Given the description of an element on the screen output the (x, y) to click on. 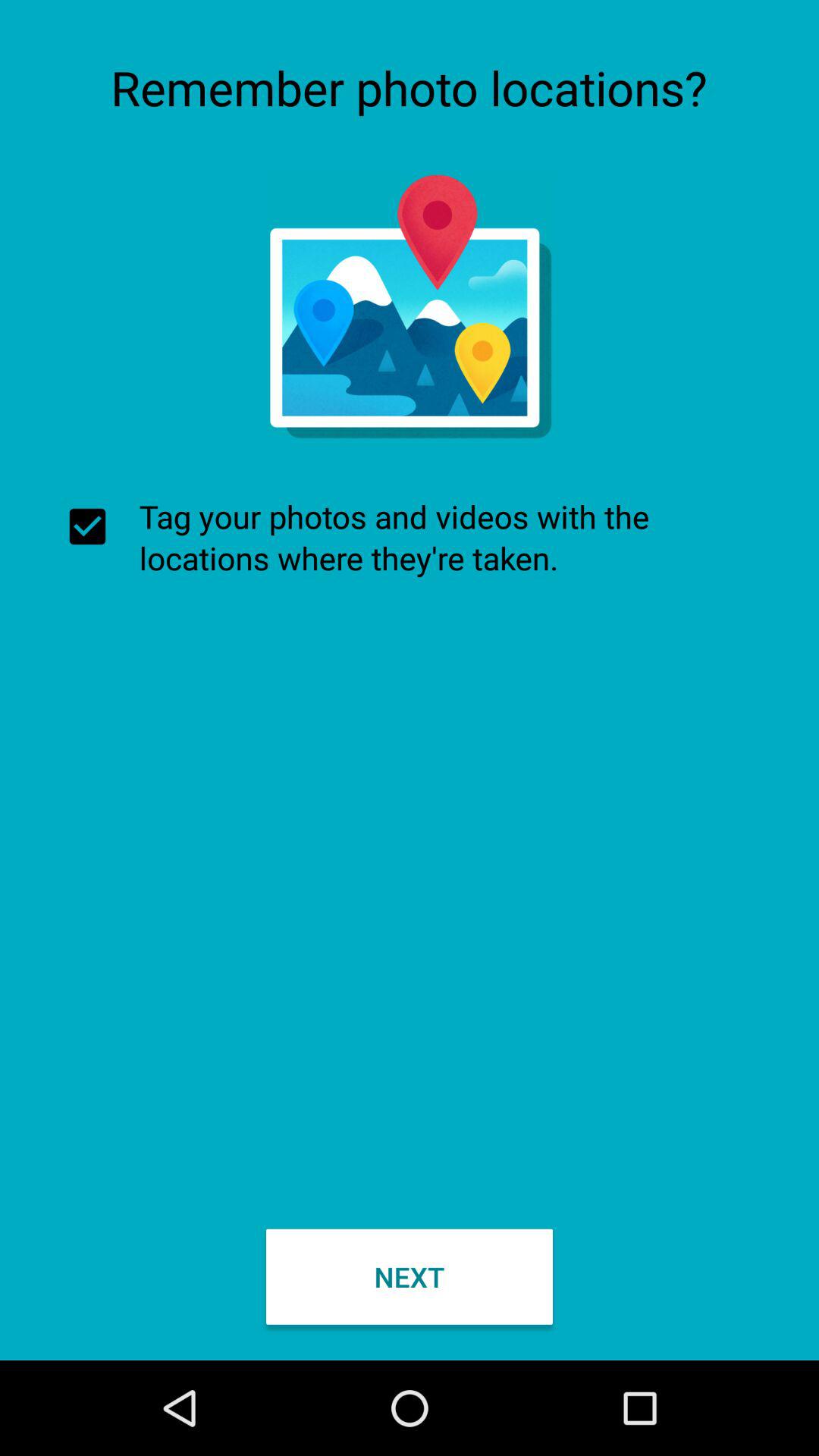
press the tag your photos item (409, 536)
